Given the description of an element on the screen output the (x, y) to click on. 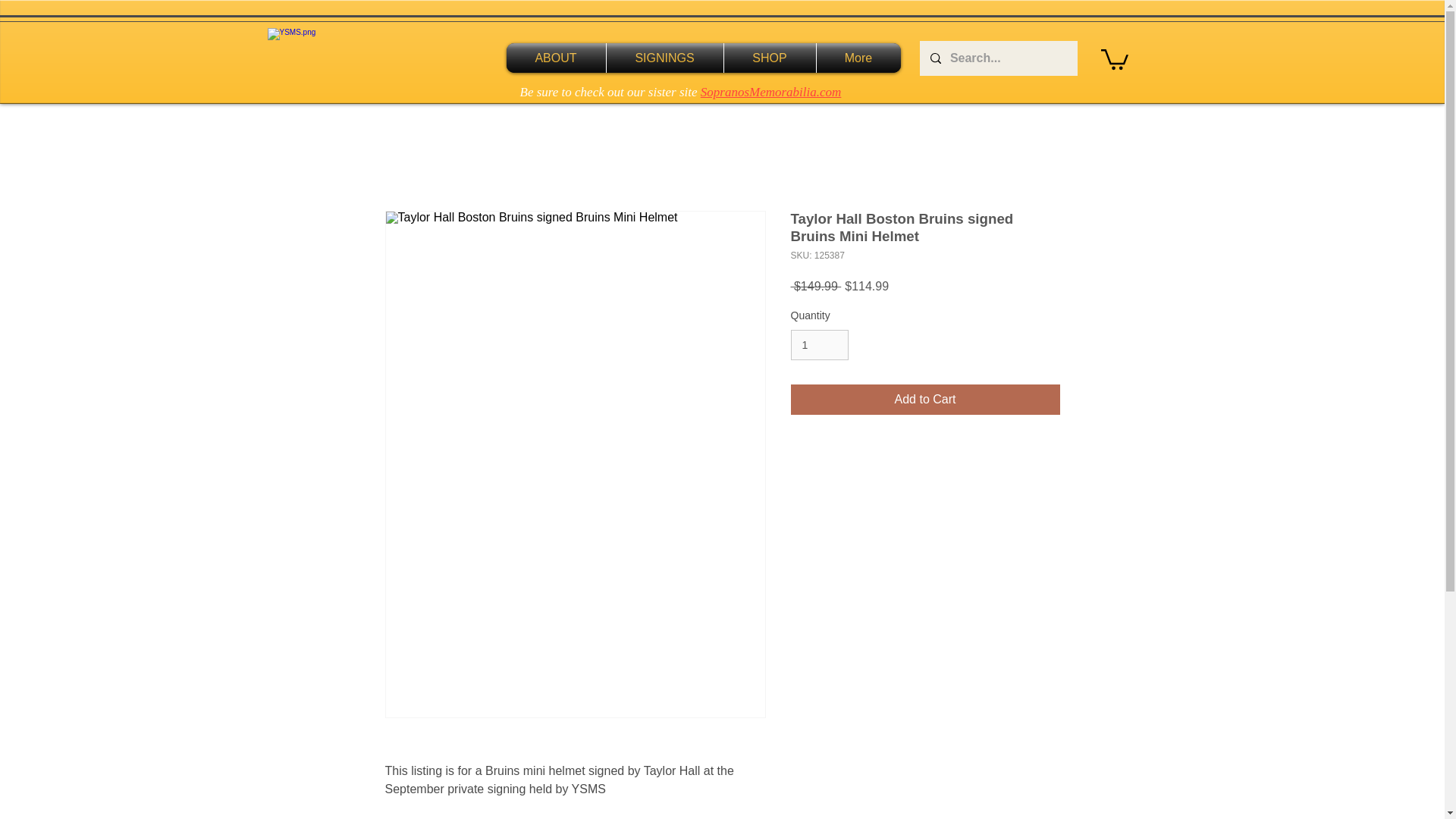
SHOP (769, 57)
SIGNINGS (665, 57)
Add to Cart (924, 399)
ABOUT (555, 57)
SopranosMemorabilia.com (770, 92)
1 (818, 345)
